Given the description of an element on the screen output the (x, y) to click on. 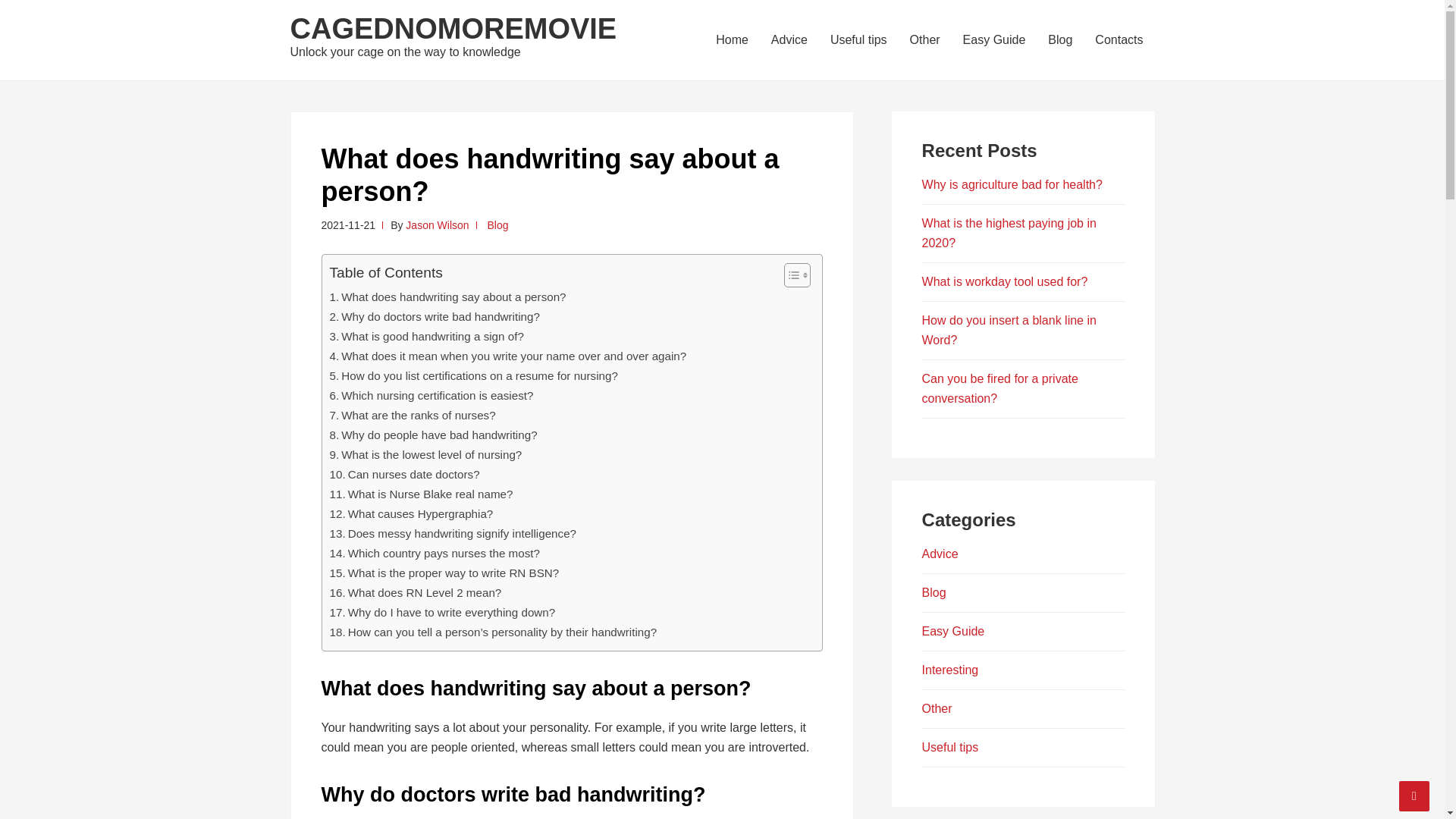
What is the lowest level of nursing? (425, 454)
What is the proper way to write RN BSN? (444, 573)
Why do I have to write everything down? (441, 612)
Useful tips (858, 39)
How do you list certifications on a resume for nursing? (473, 375)
Jason Wilson (437, 224)
Can nurses date doctors? (404, 475)
View all posts by Jason Wilson (437, 224)
What is good handwriting a sign of? (425, 336)
What are the ranks of nurses? (412, 415)
